Given the description of an element on the screen output the (x, y) to click on. 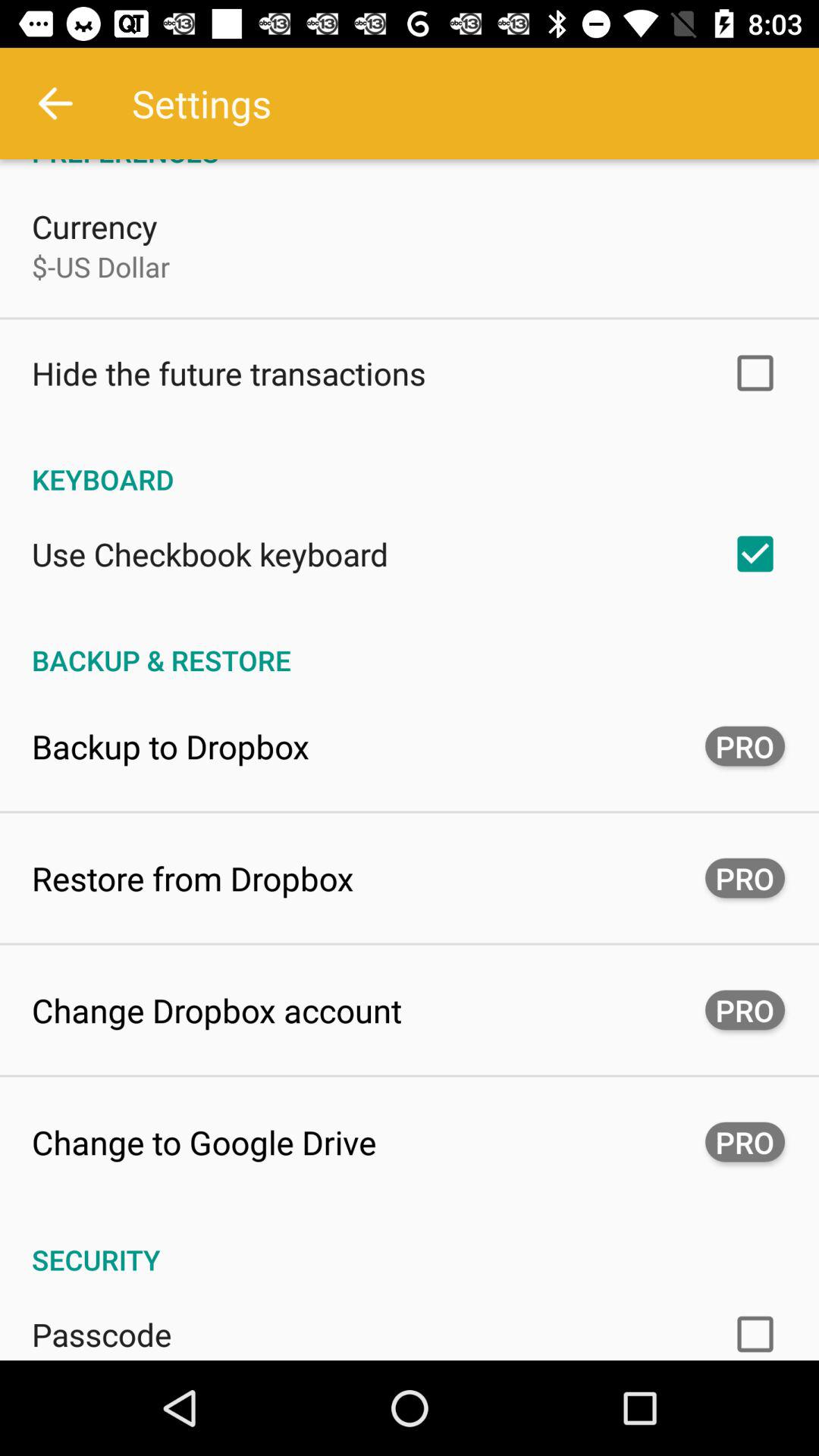
flip to hide the future app (228, 372)
